Given the description of an element on the screen output the (x, y) to click on. 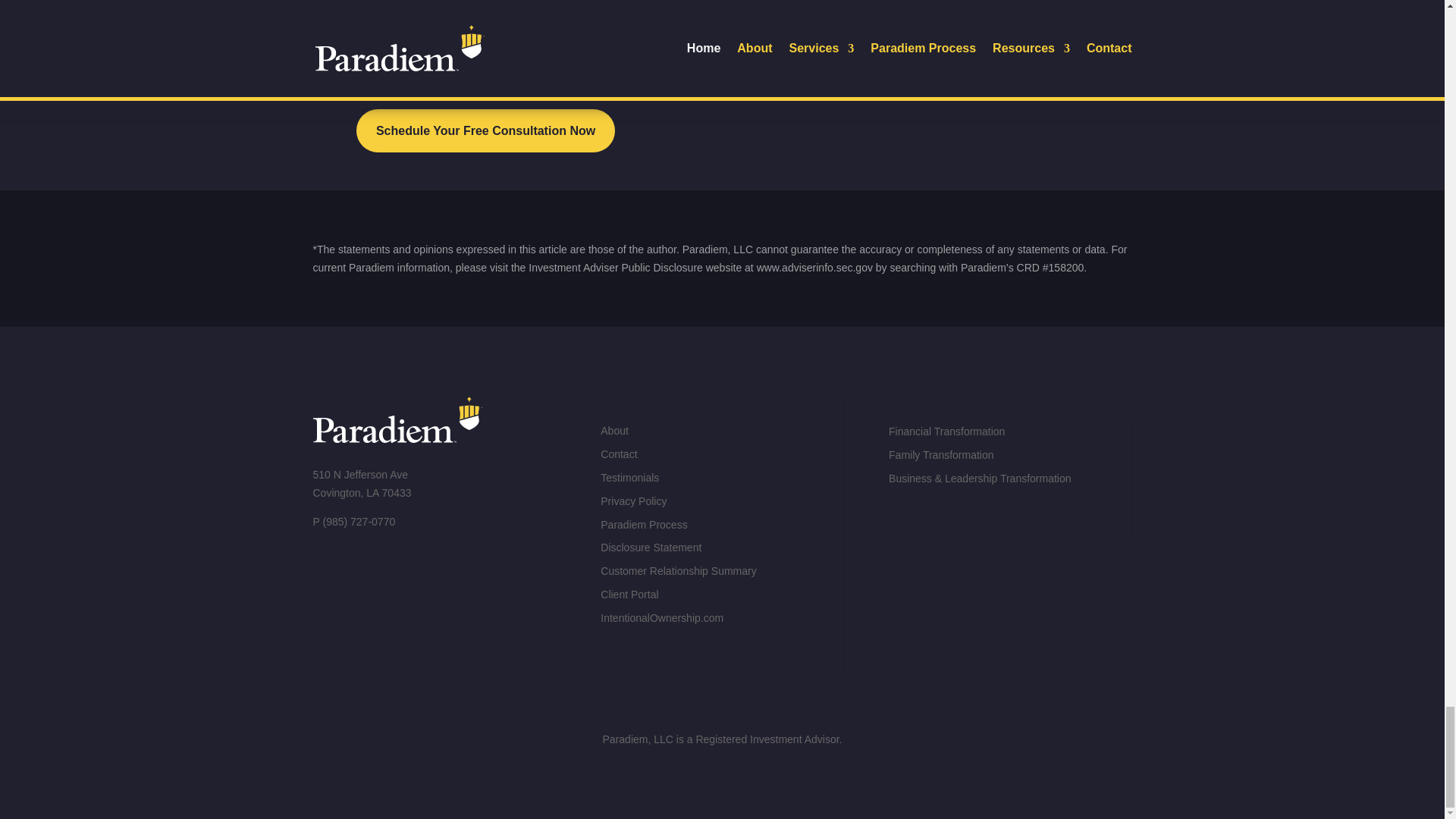
logo-paradiem-footer (397, 419)
